Given the description of an element on the screen output the (x, y) to click on. 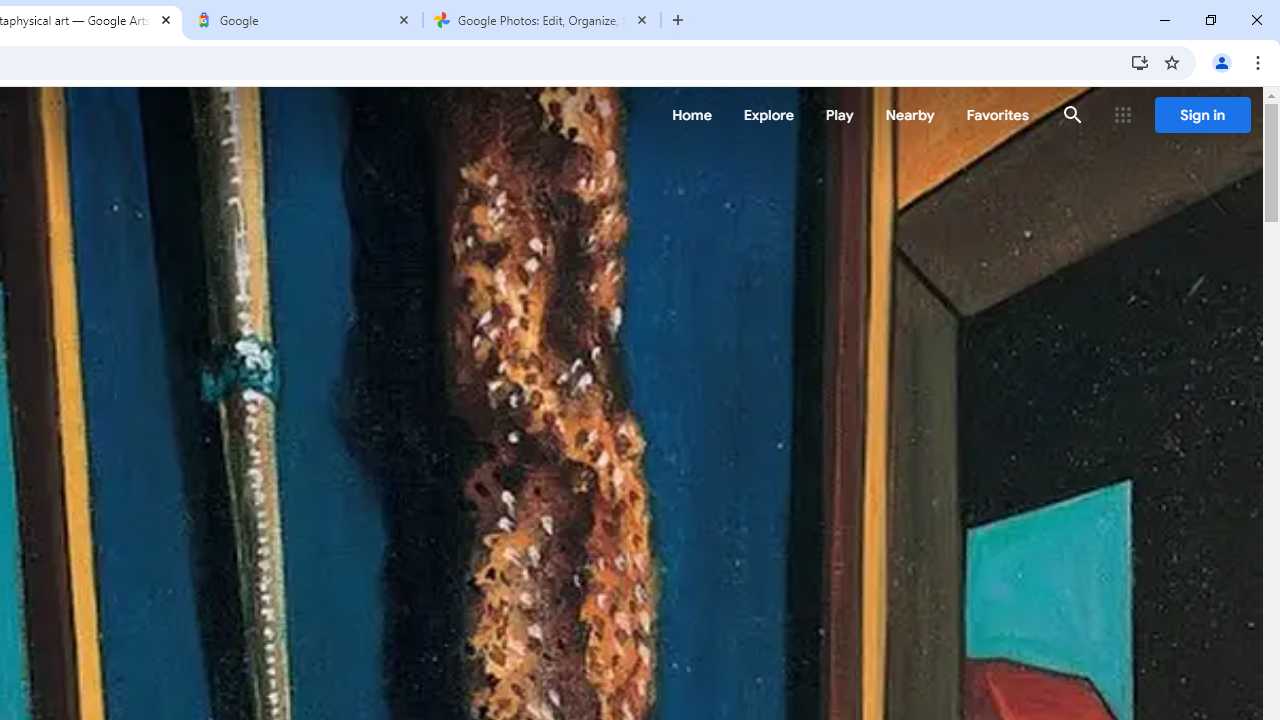
Install Google Arts & Culture (1139, 62)
Explore (768, 115)
Google (304, 20)
